Given the description of an element on the screen output the (x, y) to click on. 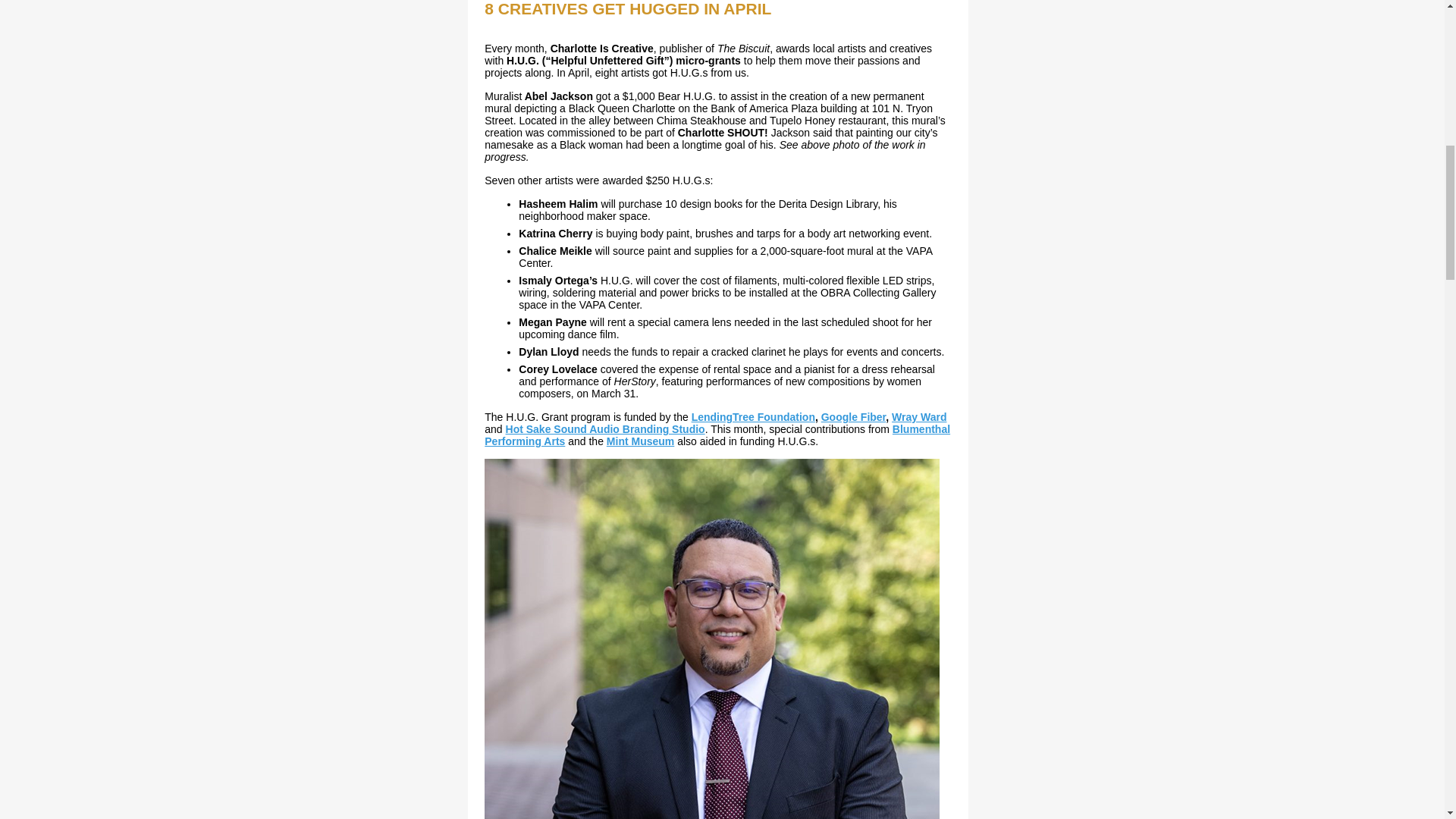
Wray Ward (918, 417)
LendingTree Foundation (753, 417)
Mint Museum (640, 440)
Google Fiber (853, 417)
Hot Sake Sound Audio Branding Studio (604, 428)
Blumenthal Performing Arts (717, 435)
